Given the description of an element on the screen output the (x, y) to click on. 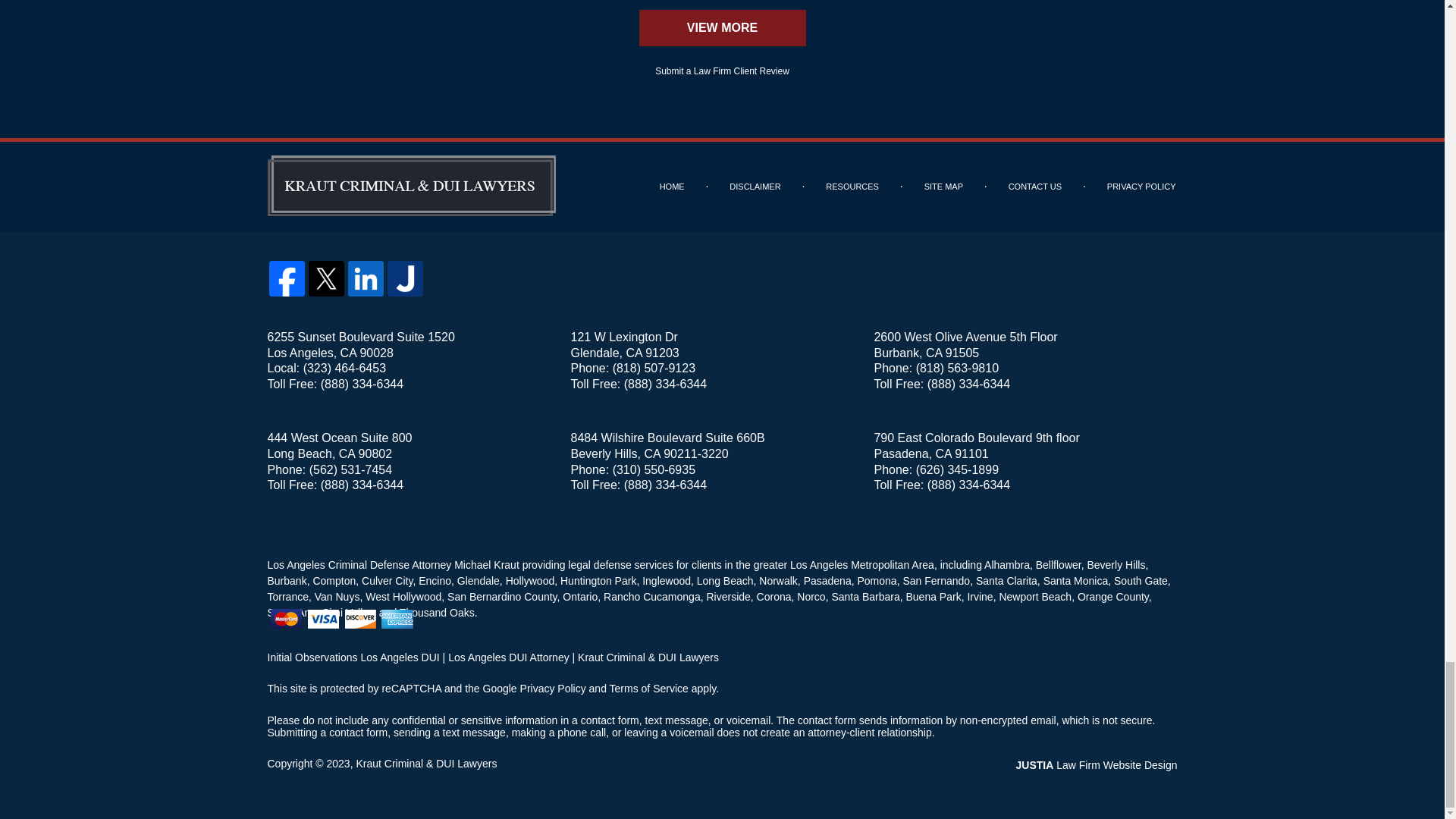
Justia (405, 278)
Facebook (285, 278)
Twitter (325, 278)
LinkedIn (365, 278)
